Given the description of an element on the screen output the (x, y) to click on. 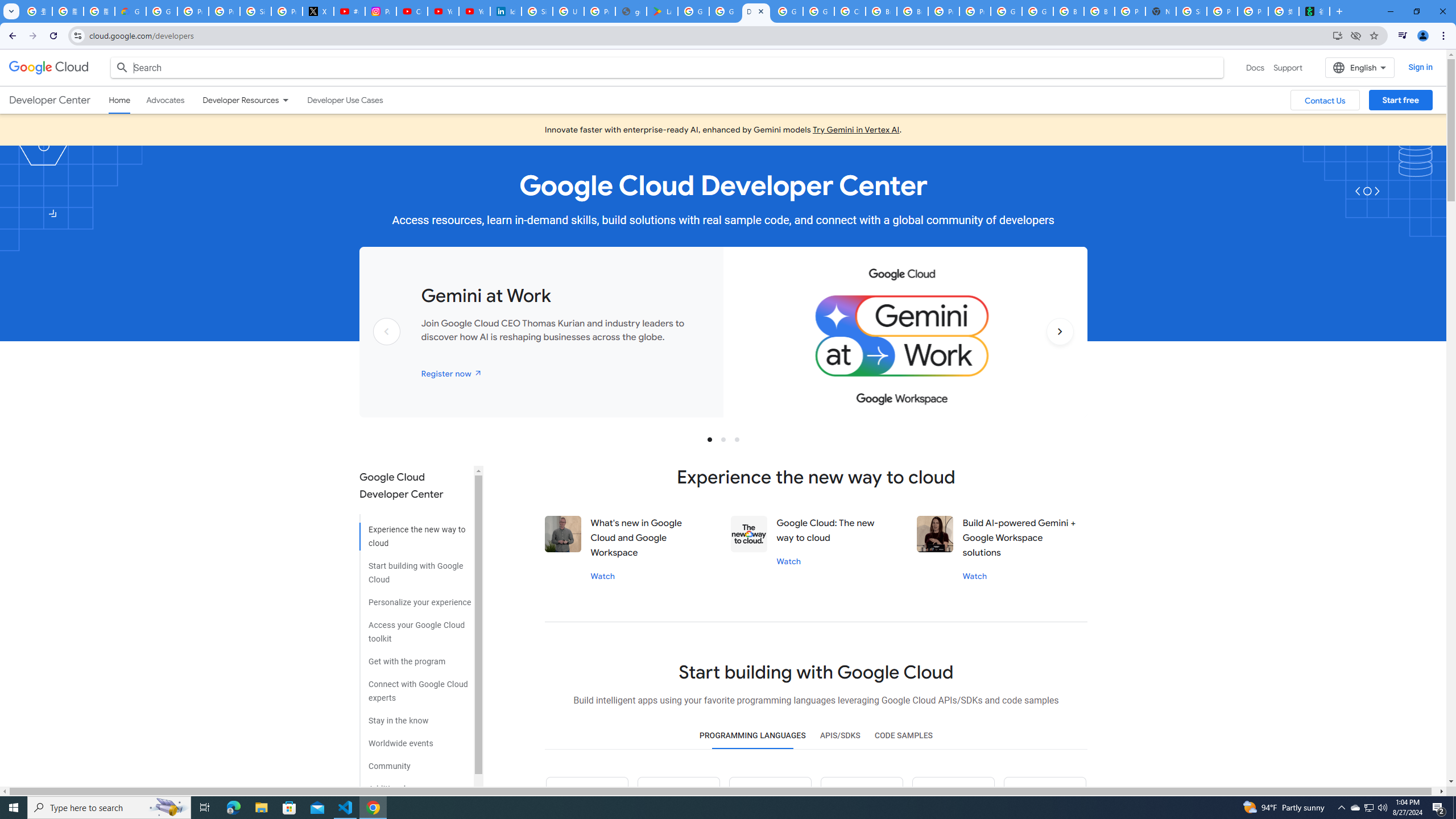
Try Gemini in Vertex AI (855, 129)
New Tab (1160, 11)
Support (1288, 67)
Worldwide events (415, 739)
Start free (1400, 100)
Privacy Help Center - Policies Help (223, 11)
Slide 2 (722, 438)
Docs (1254, 67)
